Given the description of an element on the screen output the (x, y) to click on. 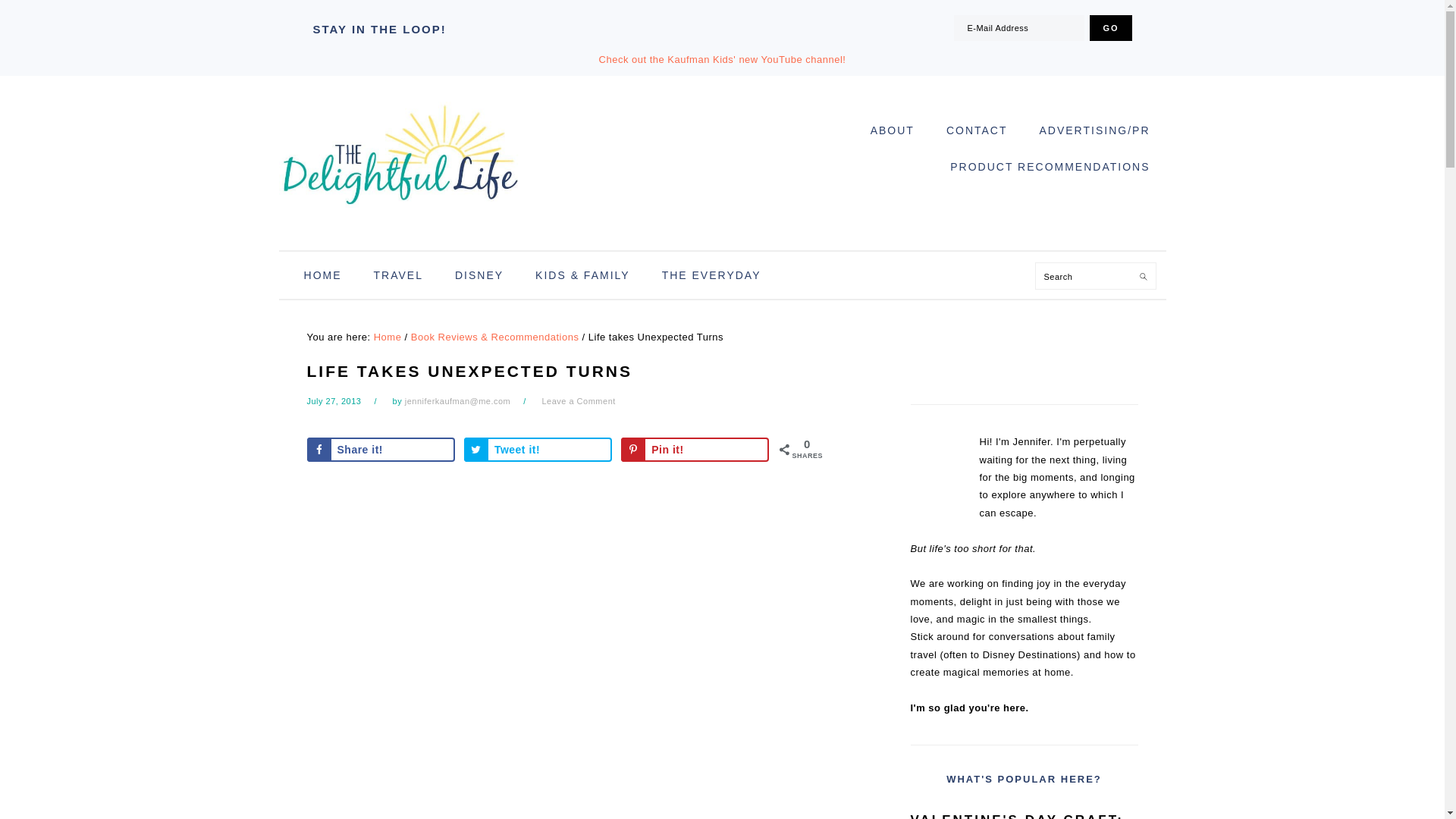
Share on Facebook (379, 449)
PRODUCT RECOMMENDATIONS (1050, 166)
DELIGHTFUL LIFE (400, 158)
Check out the Kaufman Kids' new YouTube channel! (721, 59)
Share on Twitter (537, 449)
Go (1110, 27)
ABOUT (892, 130)
Go (1110, 27)
Valentine's Day Craft: Little Love Bugs (1023, 812)
